Given the description of an element on the screen output the (x, y) to click on. 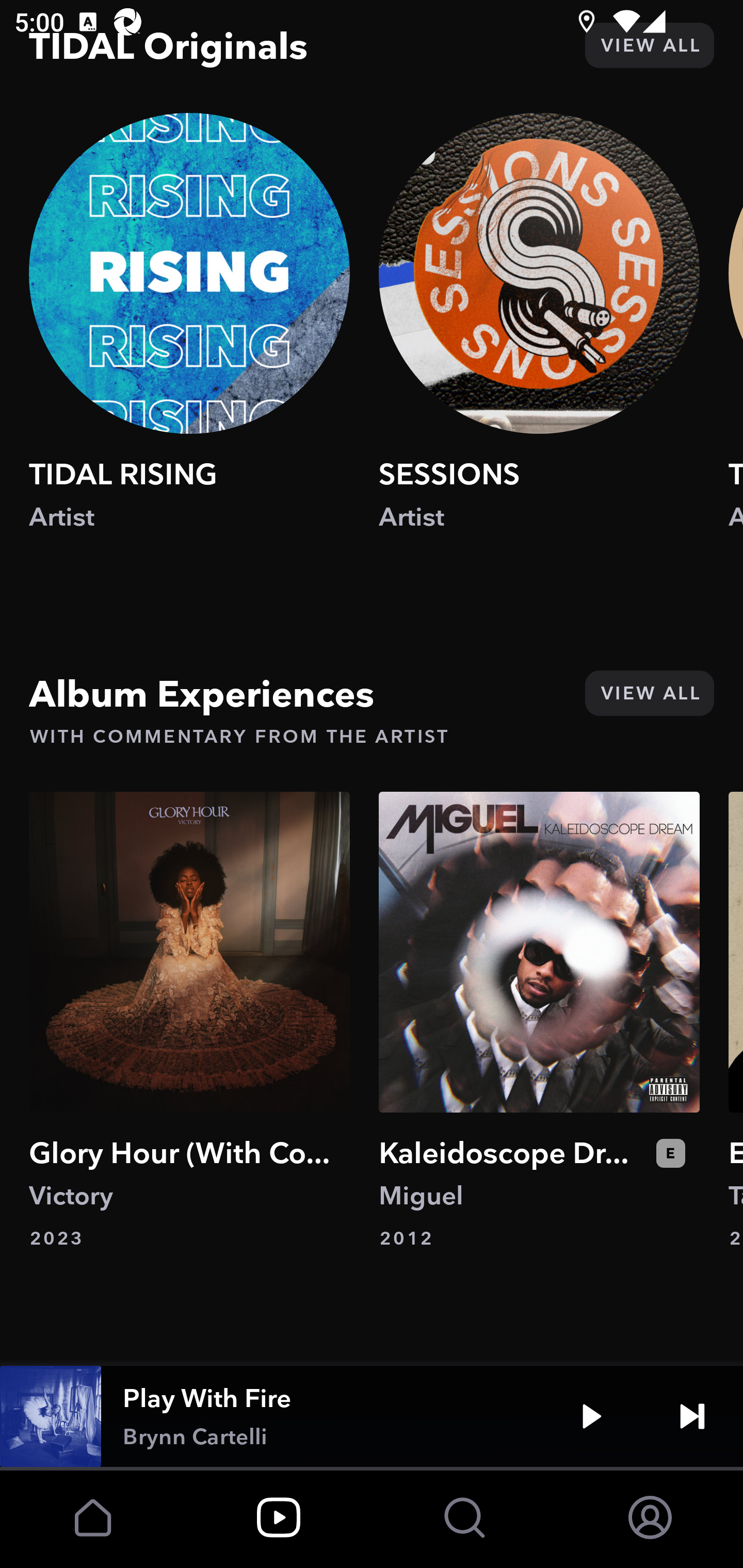
VIEW ALL (649, 44)
TIDAL RISING Artist (188, 340)
SESSIONS Artist (538, 340)
VIEW ALL (649, 693)
Glory Hour (With Commentary) Victory 2023 (188, 1020)
Kaleidoscope Dream (With Commentary) Miguel 2012 (538, 1020)
Play With Fire Brynn Cartelli Play (371, 1416)
Play (590, 1416)
